Given the description of an element on the screen output the (x, y) to click on. 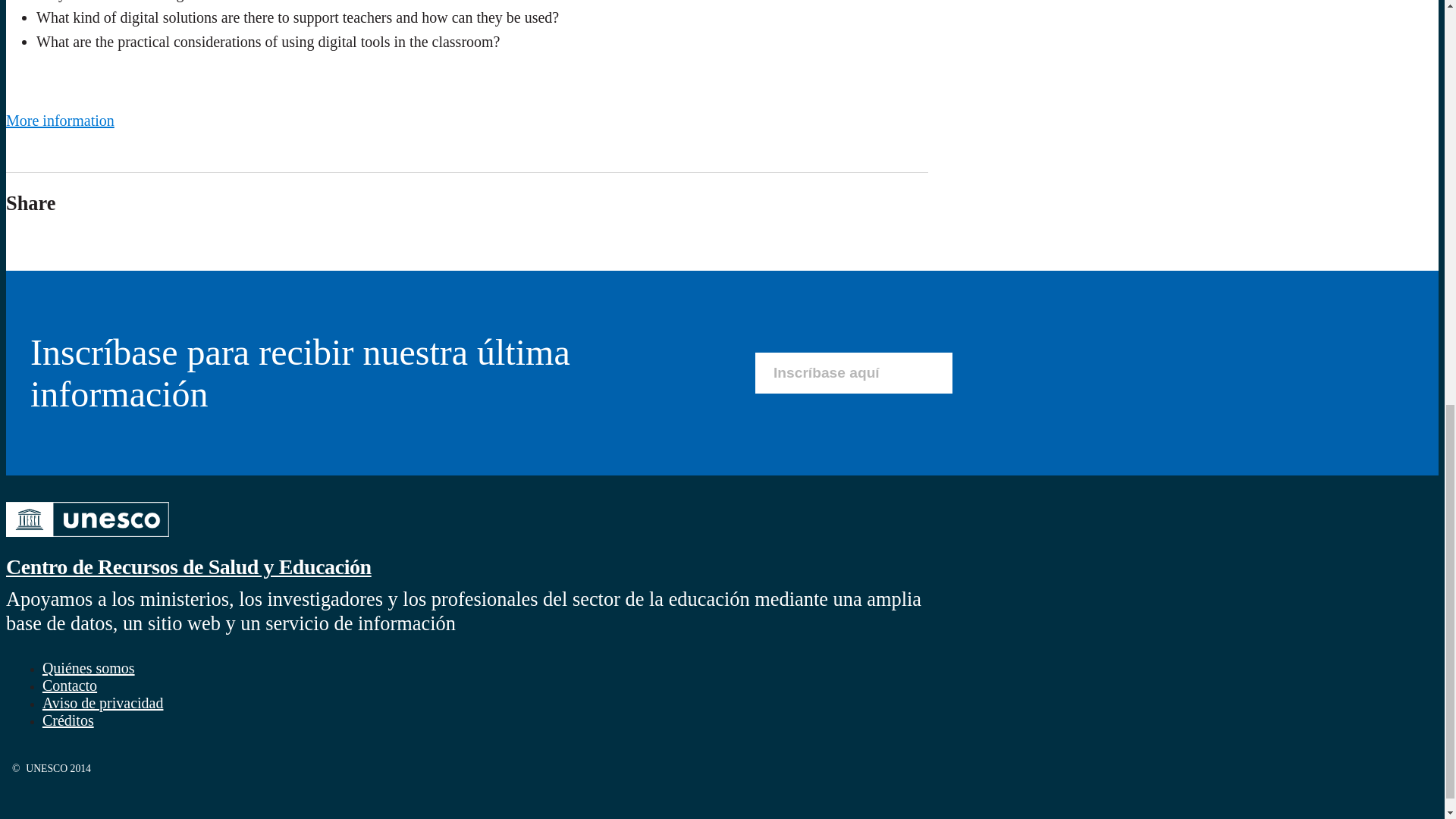
Home (86, 539)
Contacto (69, 685)
More information (60, 120)
Aviso de privacidad (102, 702)
Home (188, 566)
